Given the description of an element on the screen output the (x, y) to click on. 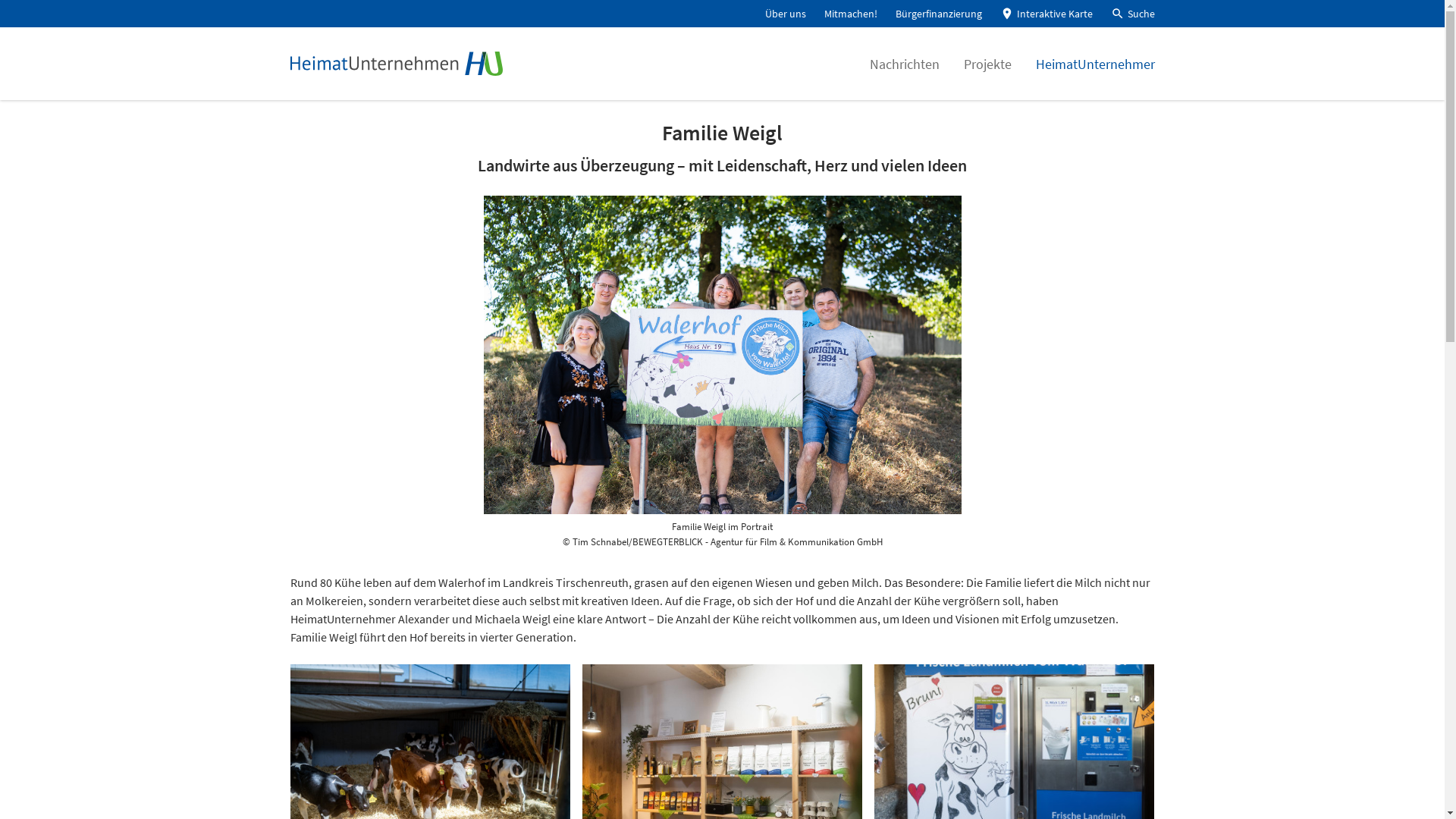
Suche Element type: text (1132, 13)
HeimatUnternehmer Element type: text (1094, 63)
Mitmachen! Element type: text (849, 13)
0 Element type: text (19, 30)
Interaktive Karte Element type: text (1045, 13)
Projekte Element type: text (986, 63)
Nachrichten Element type: text (903, 63)
